Given the description of an element on the screen output the (x, y) to click on. 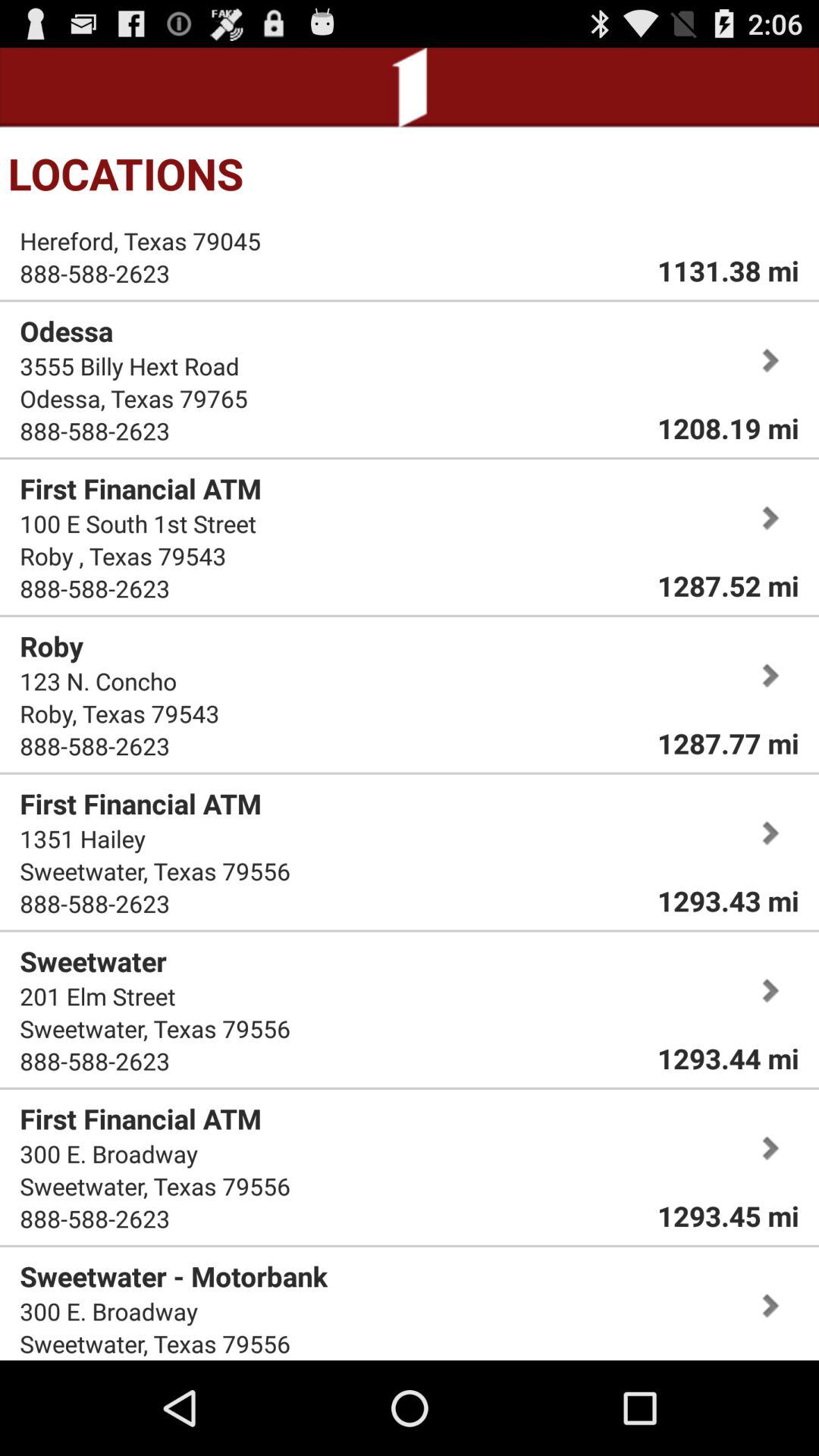
scroll to the 1351 hailey (82, 838)
